Given the description of an element on the screen output the (x, y) to click on. 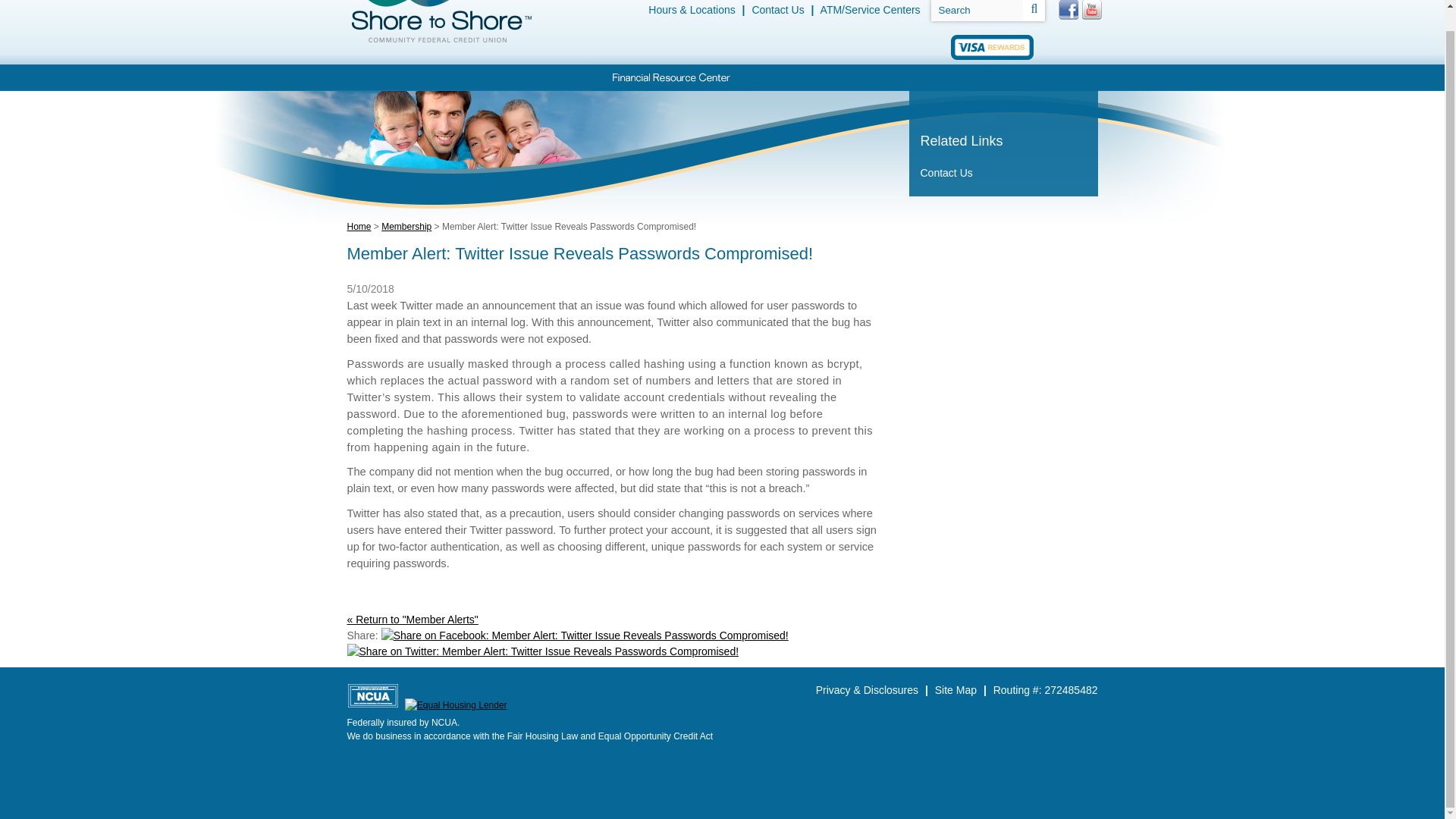
Equal Housing Lender (455, 704)
Search (977, 10)
National Credit Union Administration (372, 695)
Contact Us (777, 9)
About Us (994, 77)
Membership (901, 77)
Search (977, 10)
Financial Resource Center (670, 77)
Shore to Shore Community Federal Credit Union (440, 22)
Online Banking Tools (801, 77)
